Given the description of an element on the screen output the (x, y) to click on. 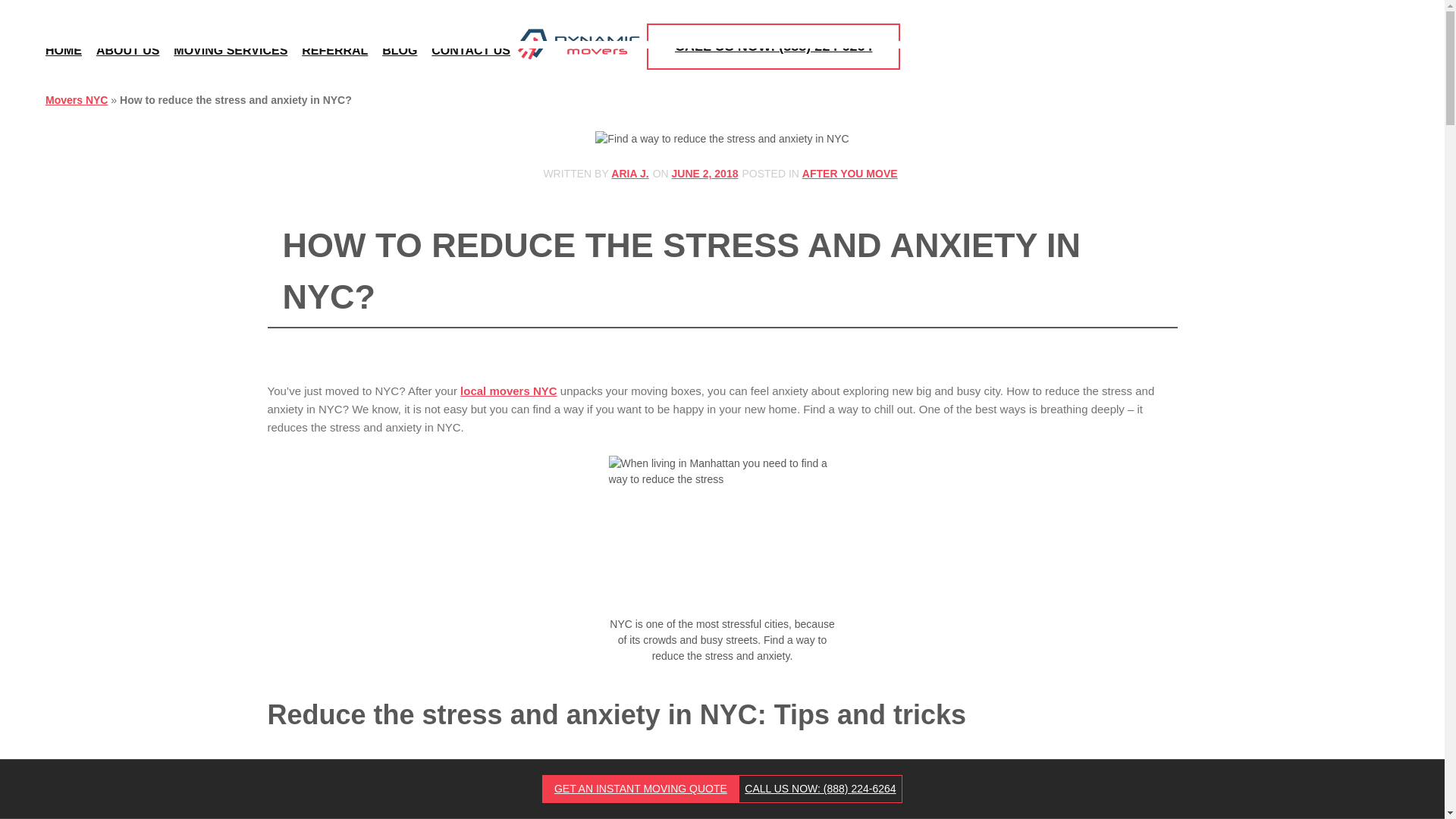
HOME (63, 46)
MOVING SERVICES (229, 46)
ABOUT US (128, 46)
